Given the description of an element on the screen output the (x, y) to click on. 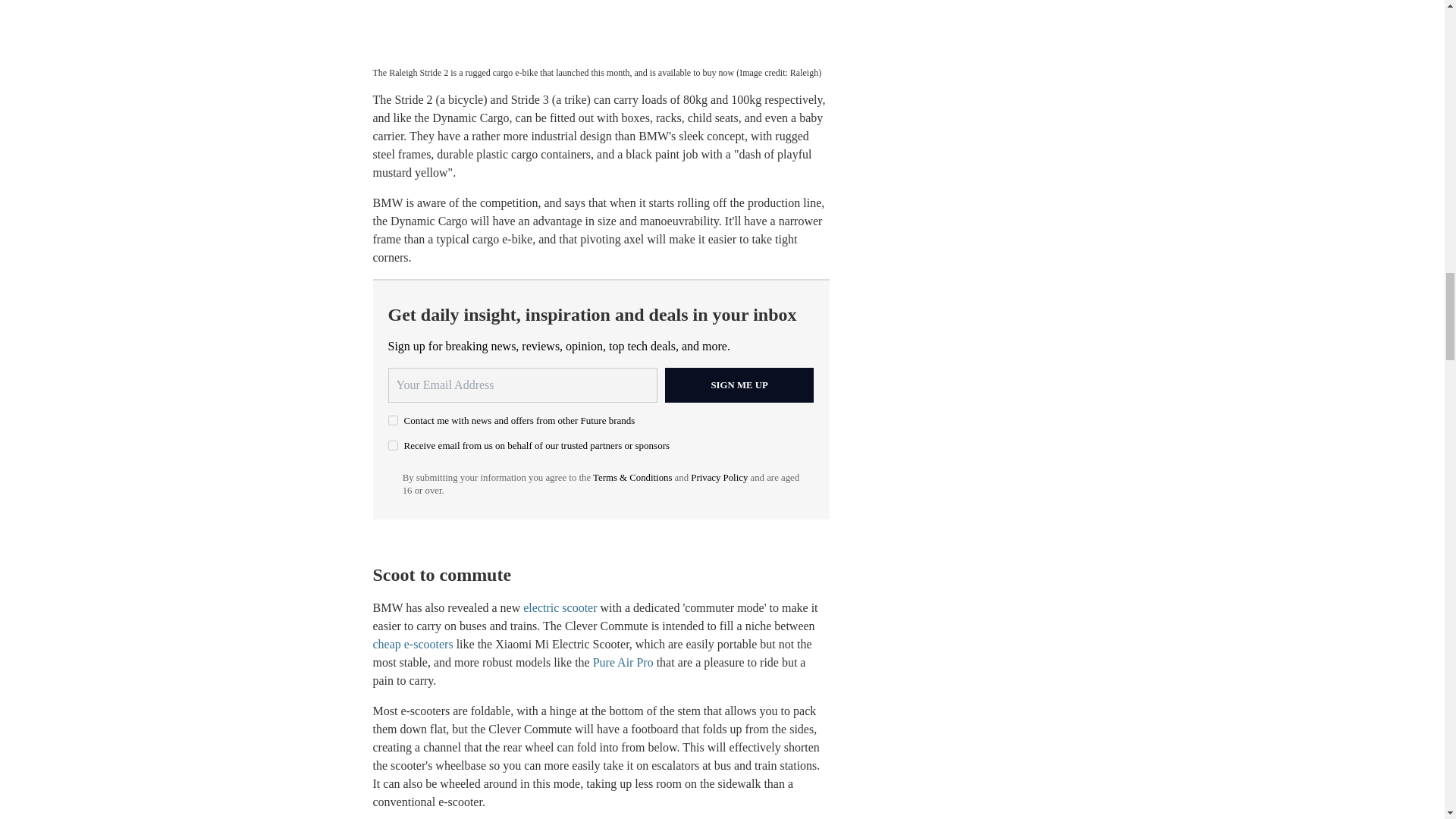
on (392, 445)
on (392, 420)
Sign me up (739, 384)
